Given the description of an element on the screen output the (x, y) to click on. 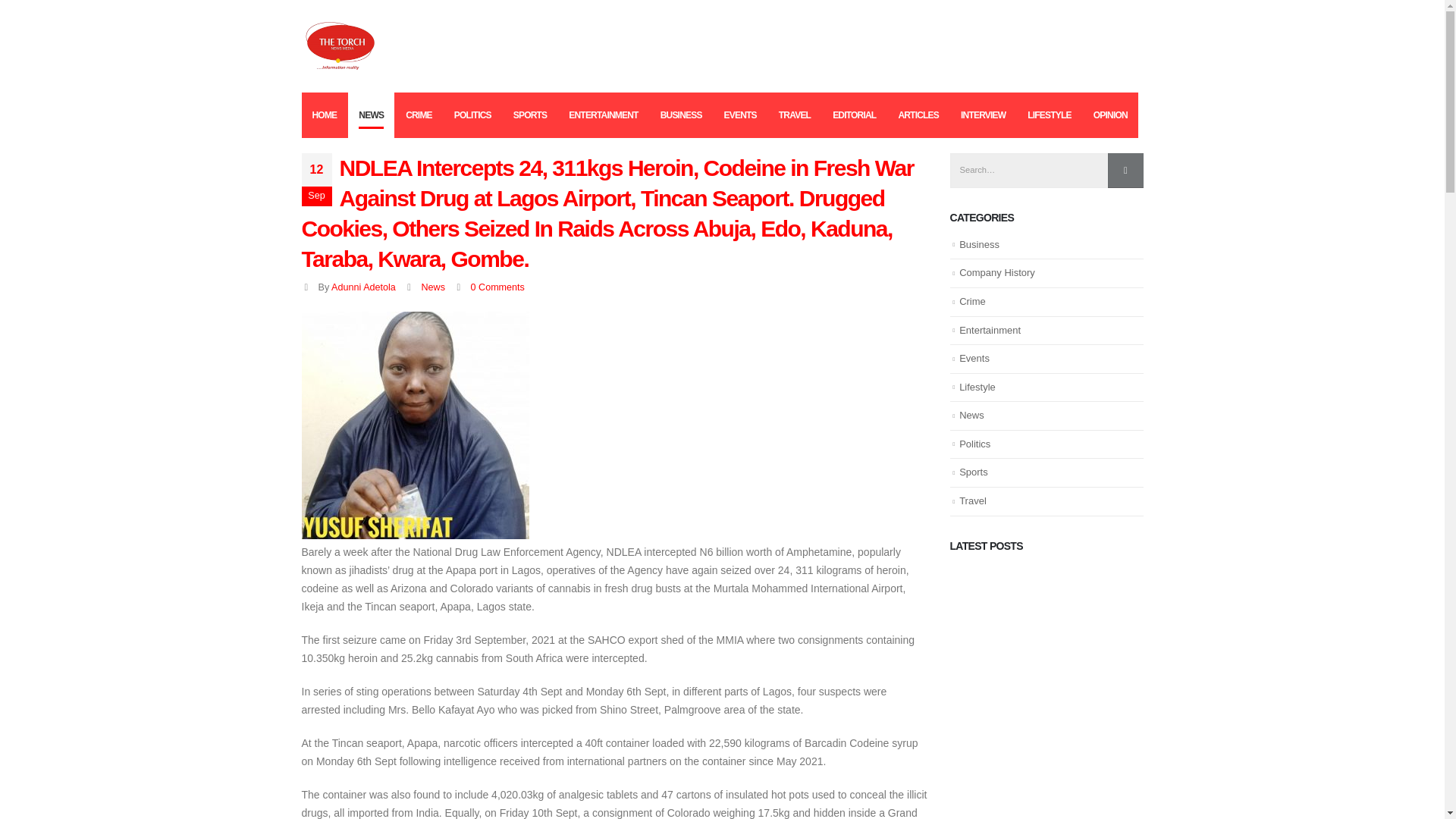
0 Comments (497, 286)
SPORTS (529, 115)
TRAVEL (794, 115)
0 Comments (497, 286)
thetorchnewsmedia - Information reality (339, 46)
ENTERTAINMENT (602, 115)
ARTICLES (917, 115)
EVENTS (740, 115)
LIFESTYLE (1048, 115)
NEWS (370, 115)
